Given the description of an element on the screen output the (x, y) to click on. 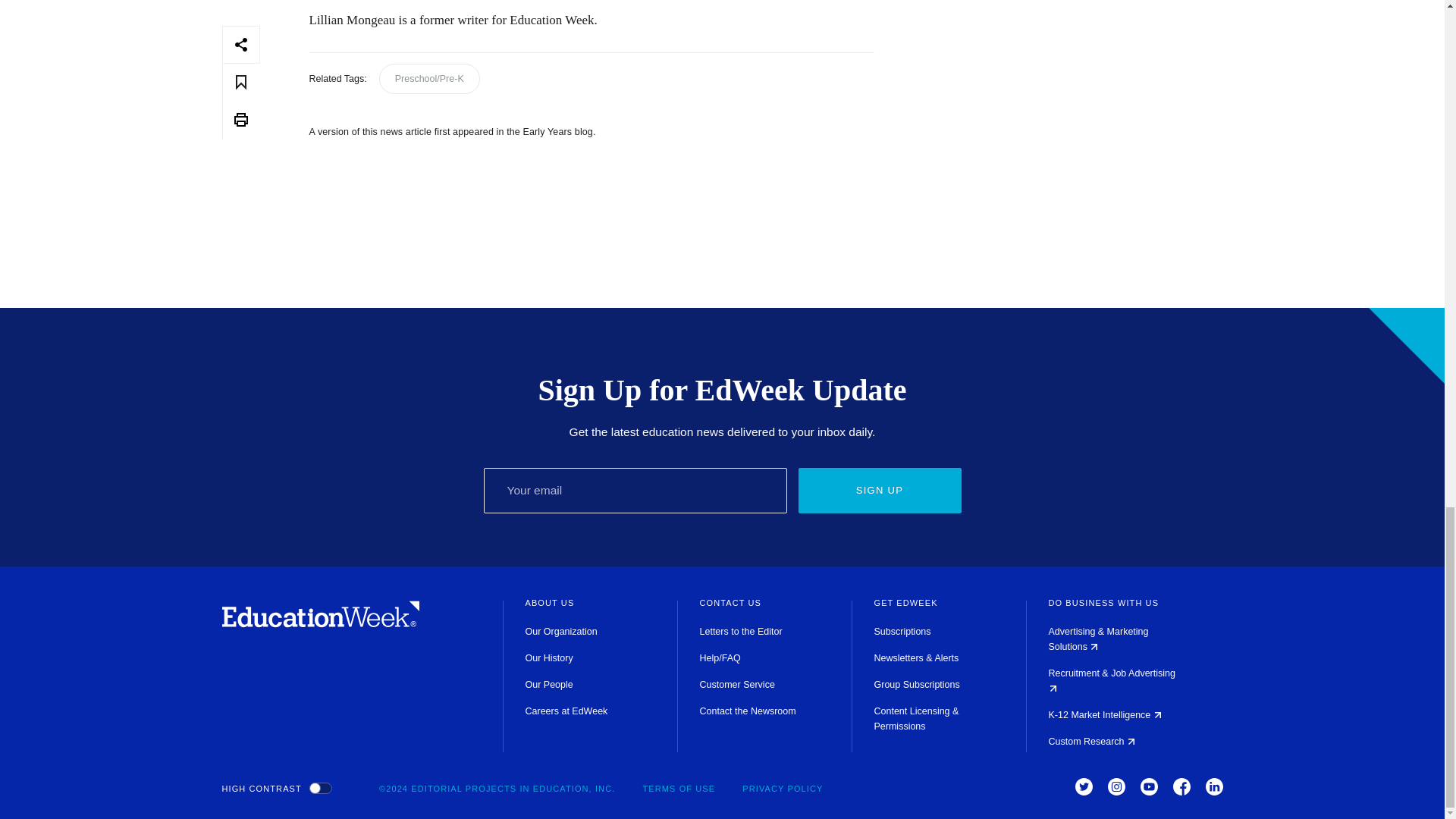
Homepage (320, 623)
3rd party ad content (1070, 113)
